Given the description of an element on the screen output the (x, y) to click on. 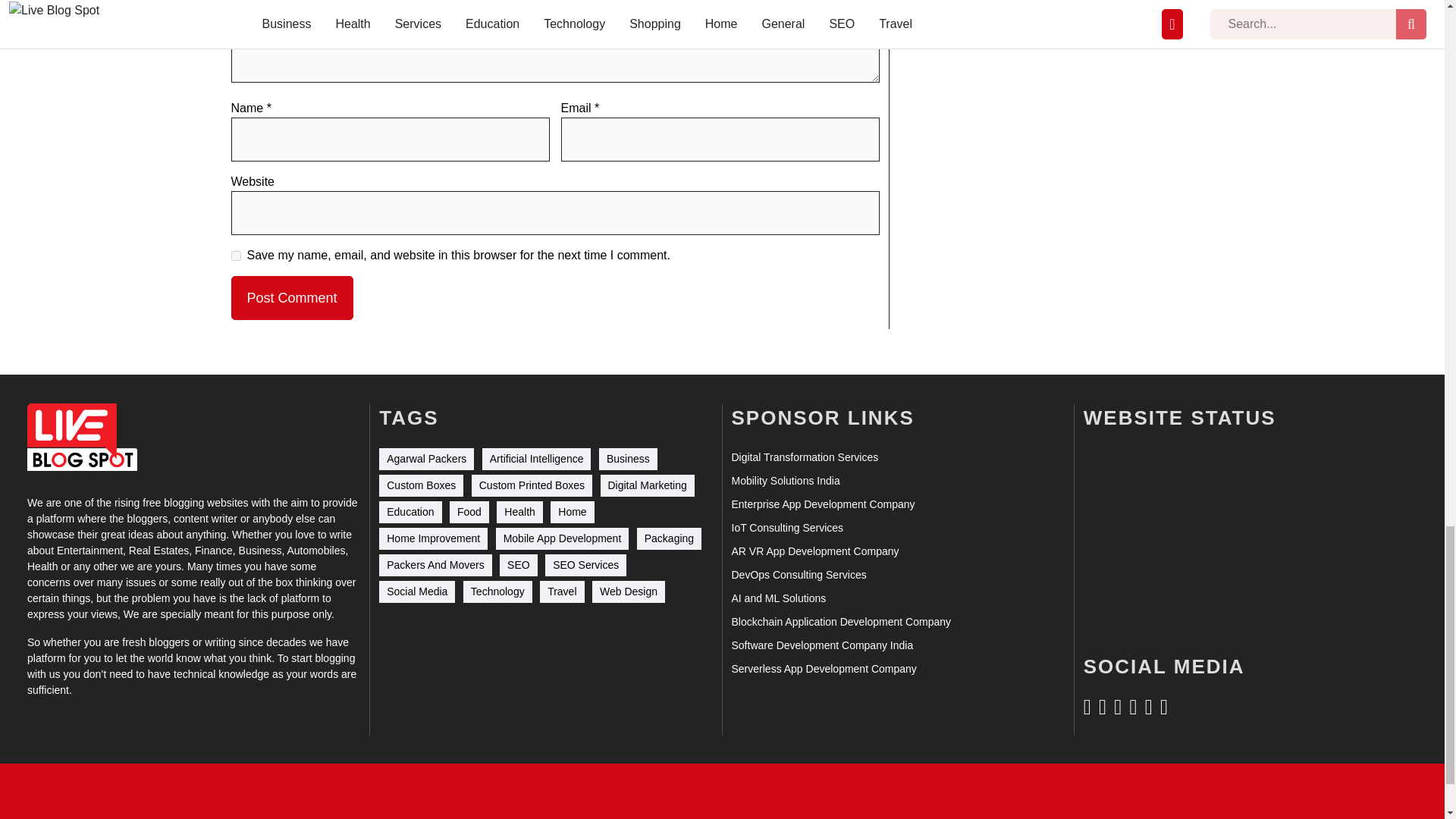
Post Comment (291, 298)
Post Comment (291, 298)
Mobility Solutions India (785, 480)
DevOps Consulting Services (798, 575)
yes (235, 255)
IoT Consulting Services (786, 528)
Enterprise App Development Company (822, 504)
Digital Transformation Services (803, 457)
Live Blog Spot (81, 436)
AR VR App Development Company (814, 551)
